Given the description of an element on the screen output the (x, y) to click on. 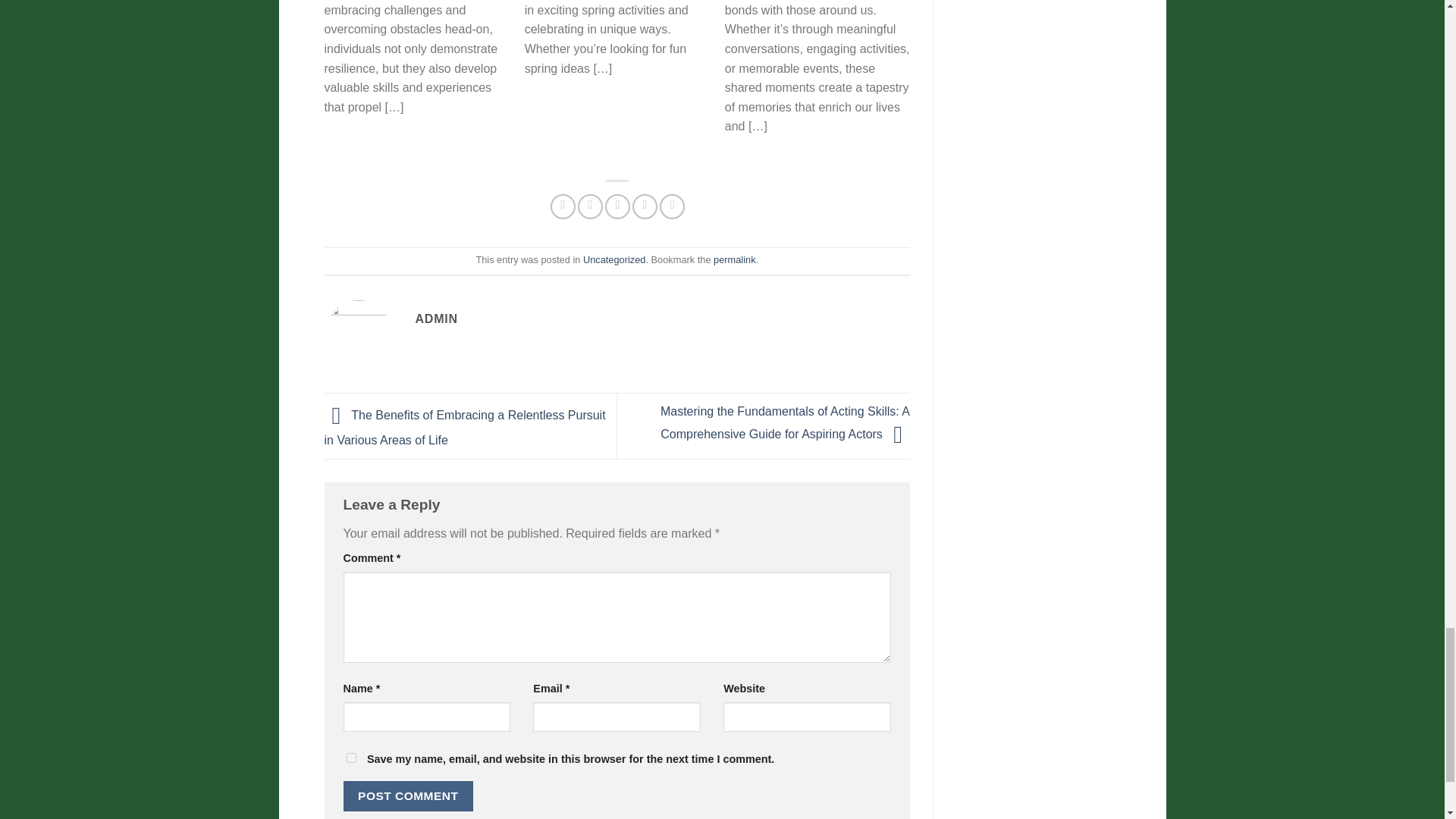
Email to a Friend (617, 206)
Share on Twitter (590, 206)
Post Comment (407, 795)
Pin on Pinterest (644, 206)
Share on LinkedIn (671, 206)
yes (350, 757)
Share on Facebook (562, 206)
